Given the description of an element on the screen output the (x, y) to click on. 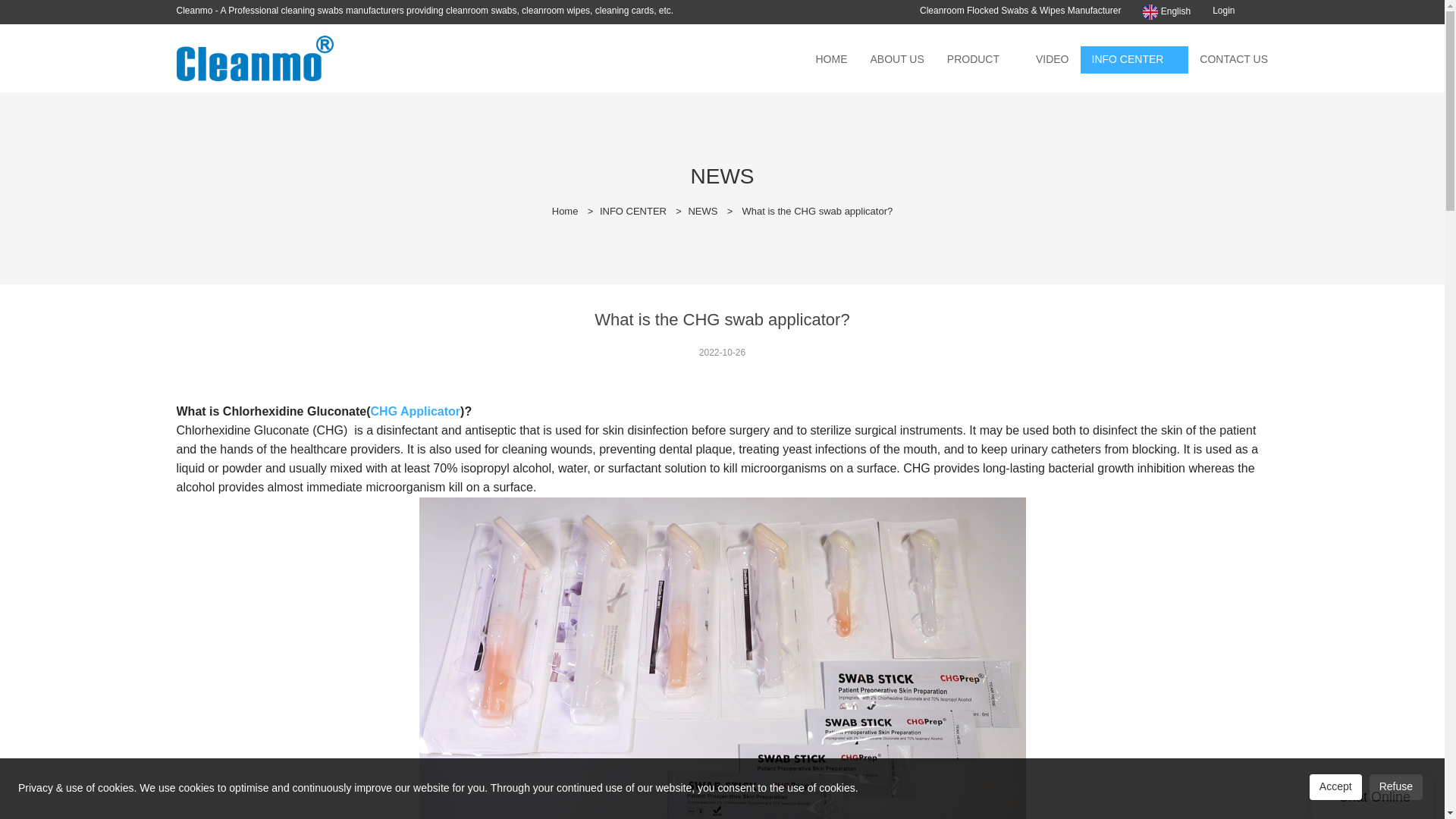
ABOUT US (896, 59)
PRODUCT (973, 59)
HOME (831, 59)
Login (1223, 9)
